Given the description of an element on the screen output the (x, y) to click on. 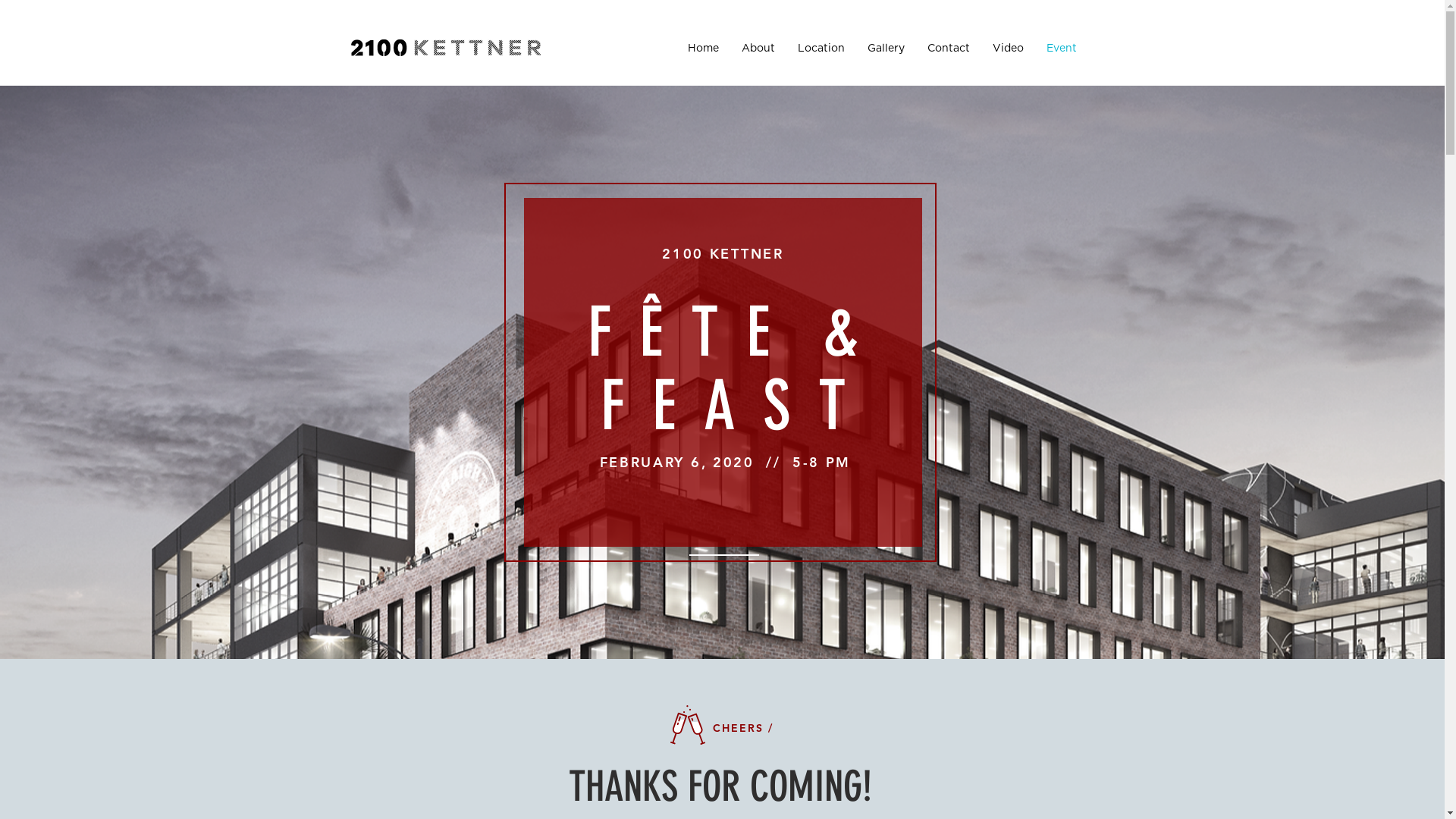
Contact Element type: text (948, 48)
Gallery Element type: text (885, 48)
Event Element type: text (1060, 48)
Location Element type: text (820, 48)
Video Element type: text (1008, 48)
Home Element type: text (703, 48)
About Element type: text (757, 48)
